Given the description of an element on the screen output the (x, y) to click on. 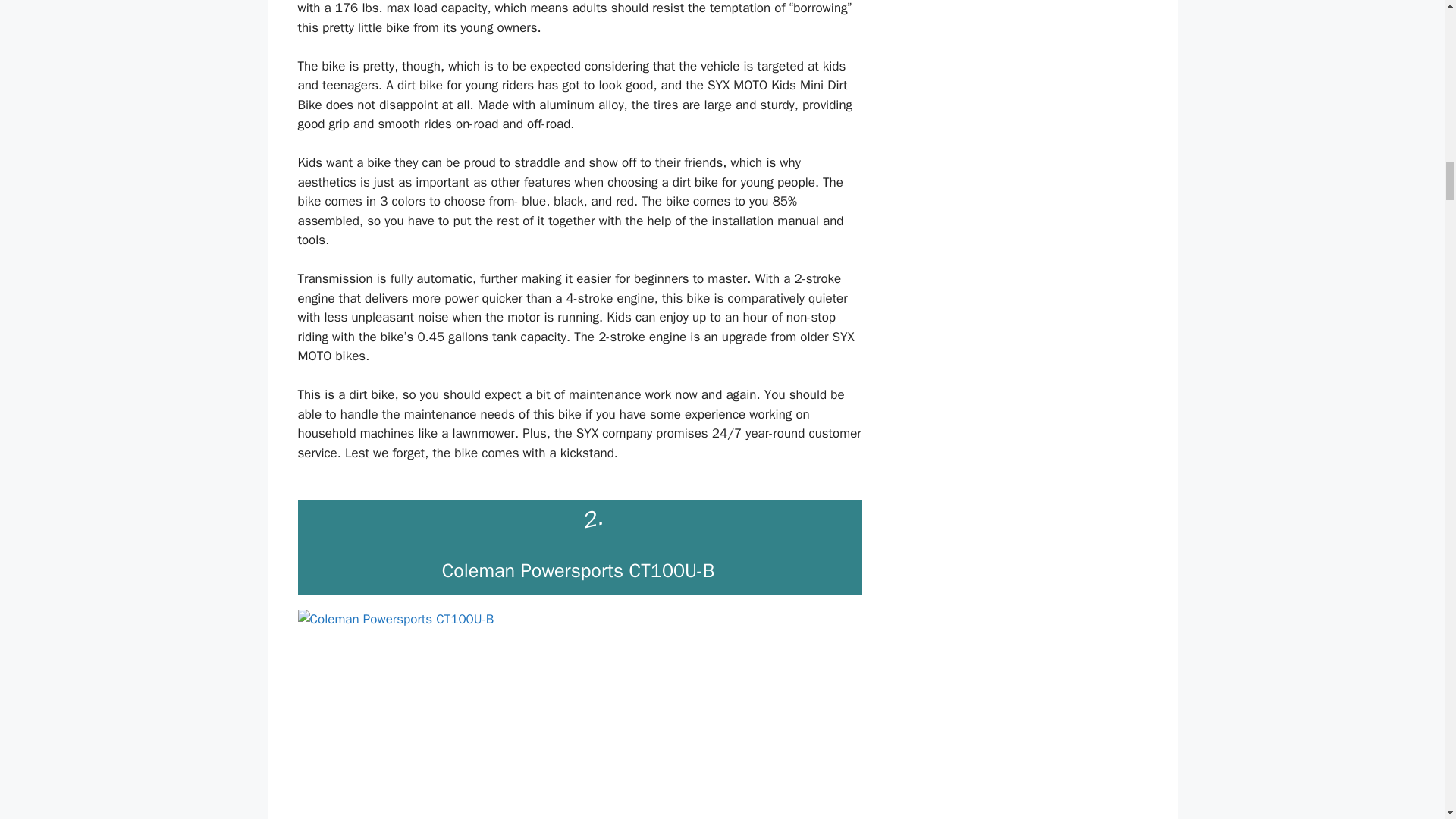
Coleman Powersports CT100U-B (578, 570)
Coleman Powersports CT100U-B (578, 570)
Coleman Powersports CT100U-B (579, 714)
